Given the description of an element on the screen output the (x, y) to click on. 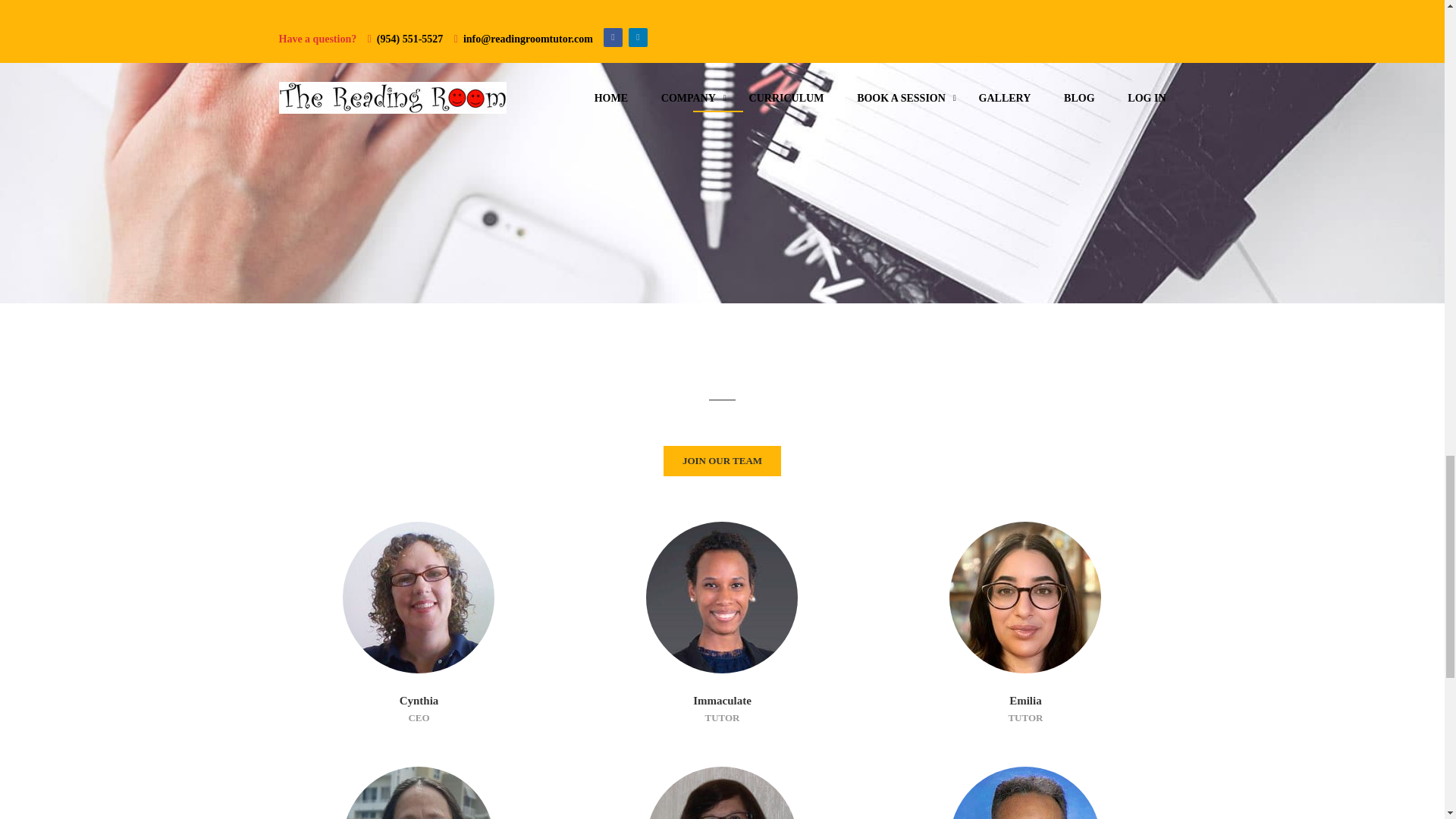
Cynthia (418, 700)
Click the name for the entire profile. (1024, 792)
Join Our Team (721, 460)
Immaculate (722, 700)
Click the name for the entire profile. (721, 792)
Click the name for the entire profile. (1024, 597)
JOIN OUR TEAM (721, 460)
Click the name for the entire profile. (721, 597)
Click the name for the entire profile. (418, 597)
